Given the description of an element on the screen output the (x, y) to click on. 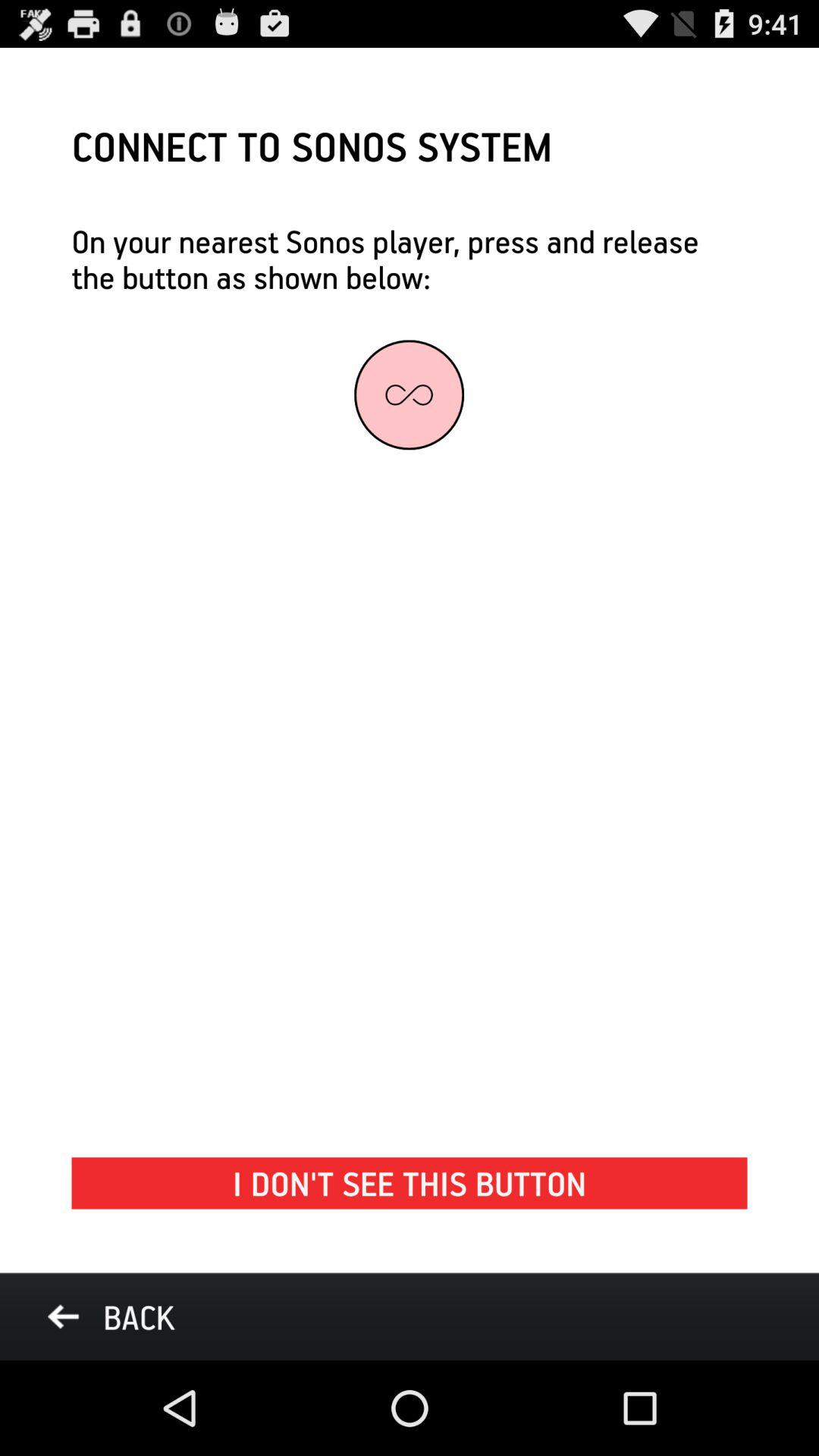
click icon above back item (409, 1183)
